Given the description of an element on the screen output the (x, y) to click on. 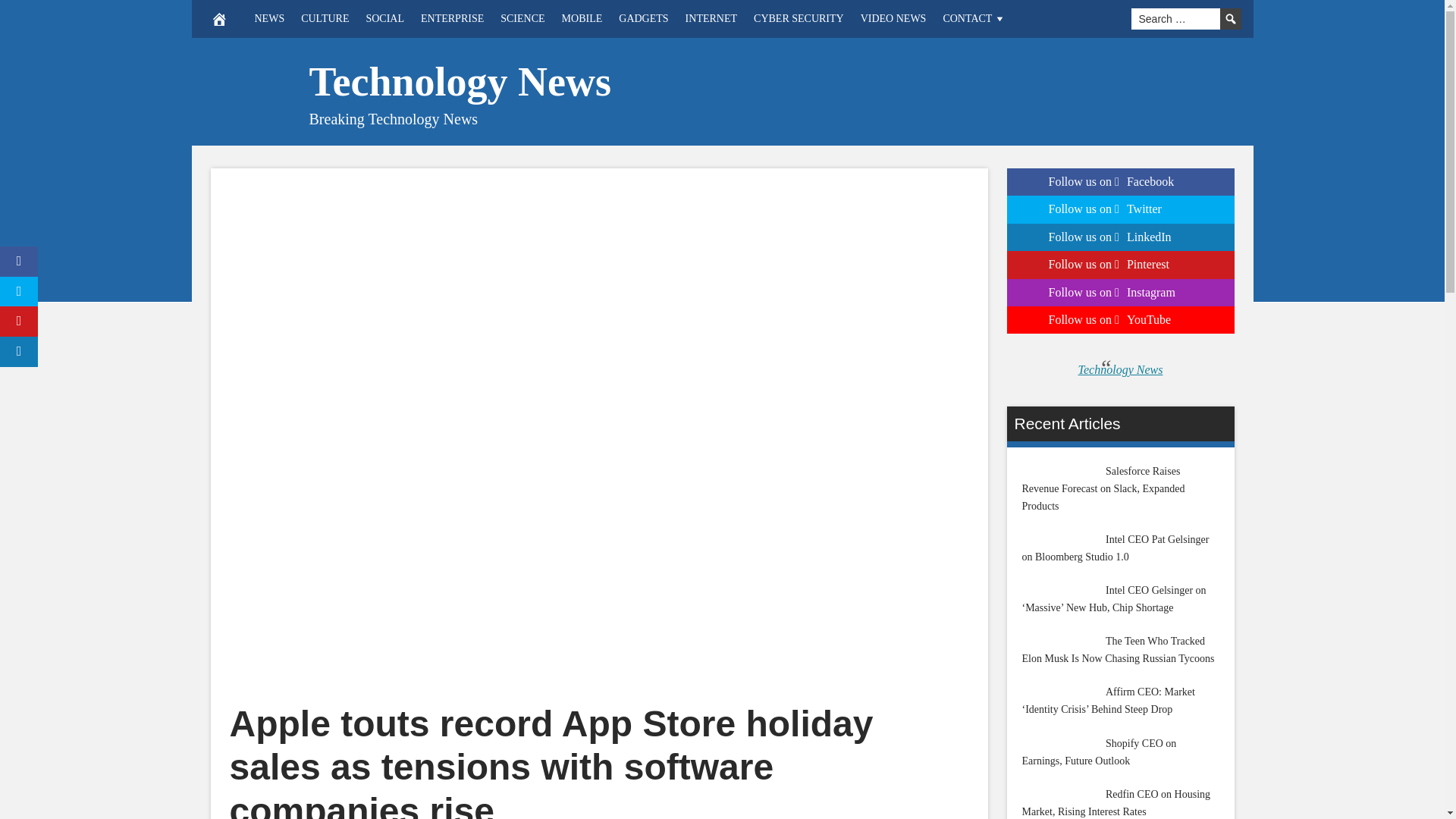
NEWS (269, 18)
VIDEO NEWS (892, 18)
INTERNET (711, 18)
SOCIAL (384, 18)
MOBILE (582, 18)
SCIENCE (522, 18)
CONTACT (974, 18)
GADGETS (643, 18)
CYBER SECURITY (798, 18)
CULTURE (324, 18)
